Given the description of an element on the screen output the (x, y) to click on. 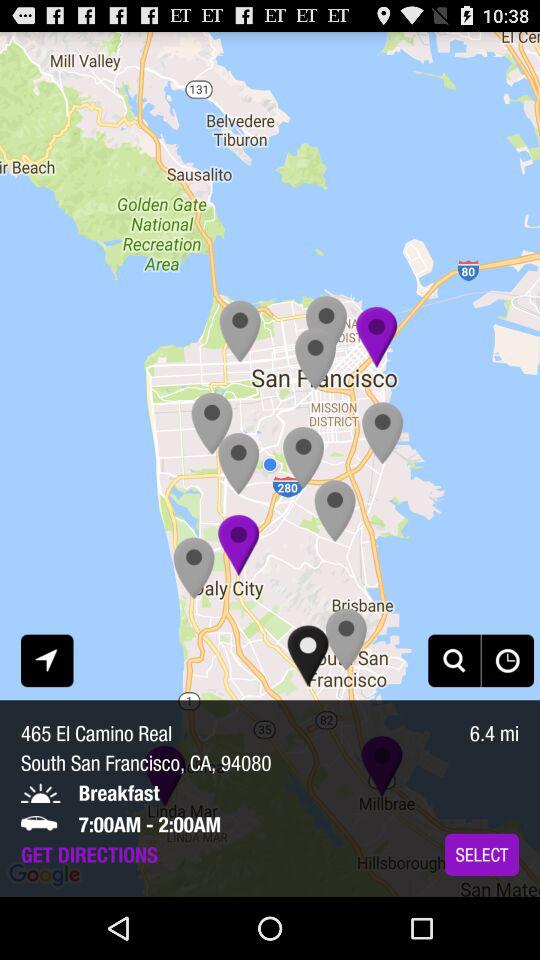
turn on the icon next to the 7 00am 2 app (482, 854)
